Given the description of an element on the screen output the (x, y) to click on. 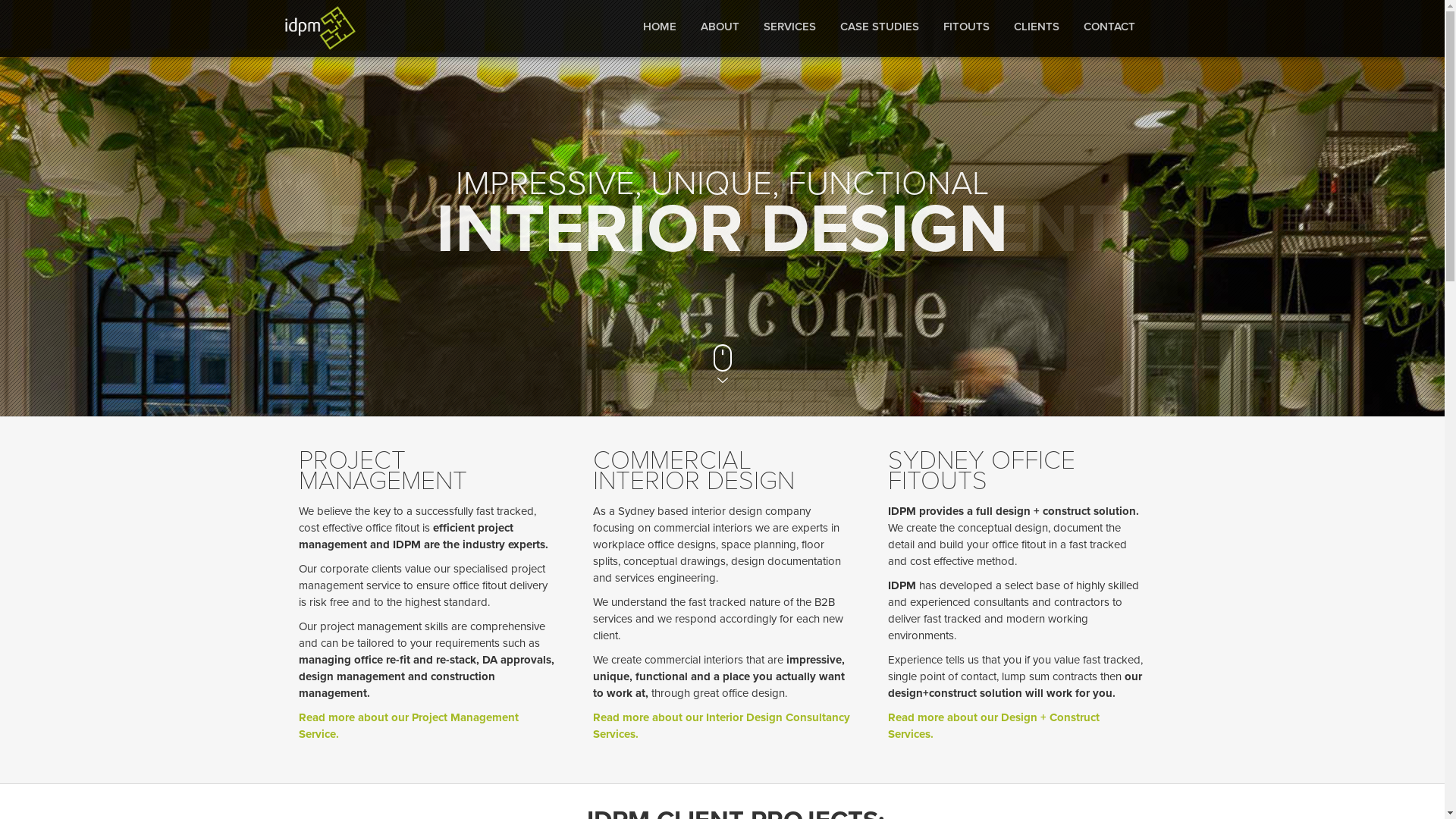
HOME Element type: text (659, 26)
FITOUTS Element type: text (966, 26)
Read more about our Interior Design Consultancy Services.   Element type: text (721, 725)
CLIENTS Element type: text (1035, 26)
SERVICES Element type: text (788, 26)
Read more about our Project Management Service.   Element type: text (408, 725)
CONTACT Element type: text (1108, 26)
CASE STUDIES Element type: text (879, 26)
ABOUT Element type: text (719, 26)
Read more about our Design + Construct Services.   Element type: text (993, 725)
